Given the description of an element on the screen output the (x, y) to click on. 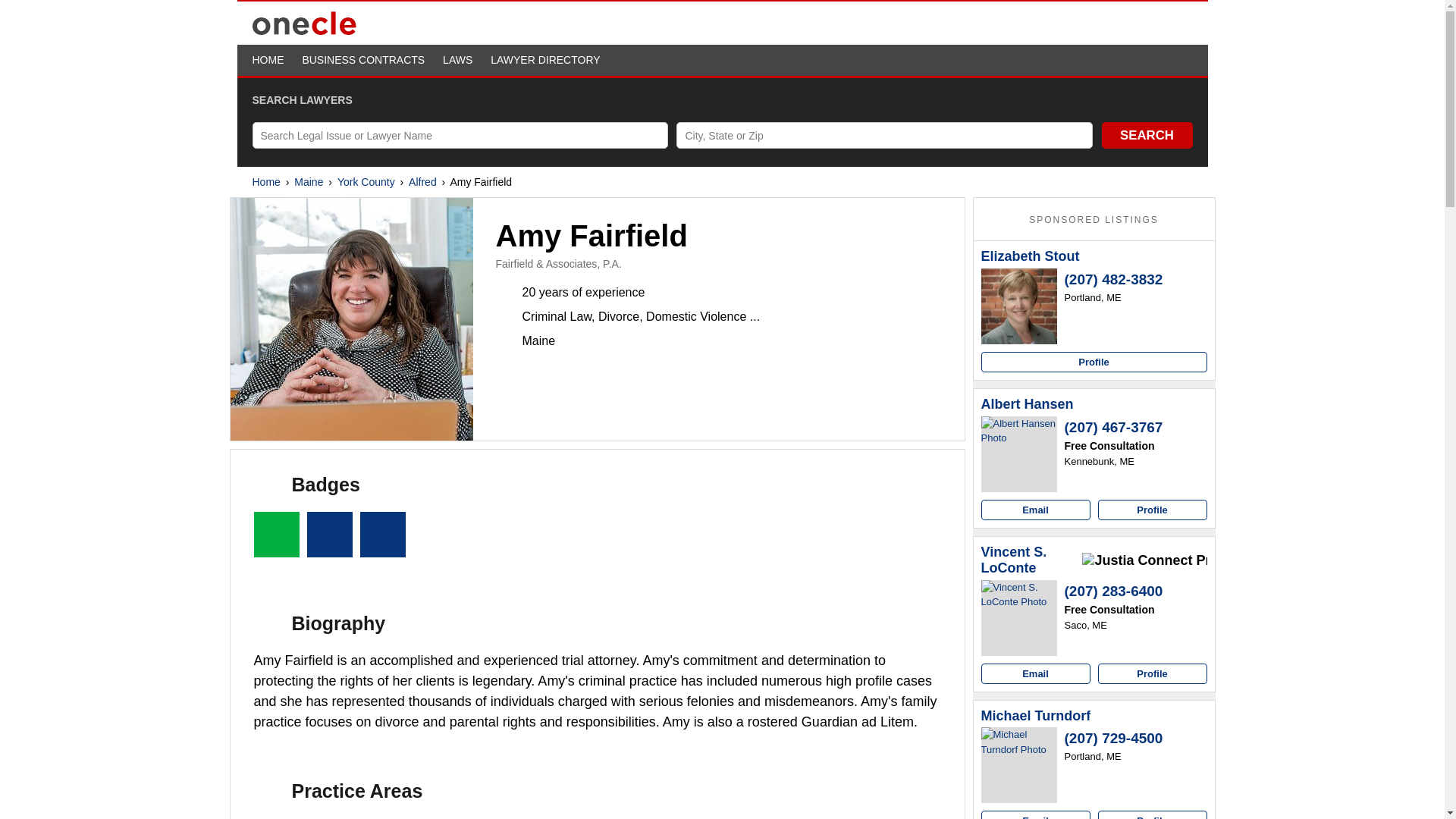
City, State or Zip (885, 135)
Maine (308, 181)
Amy Fairfield (351, 319)
BUSINESS CONTRACTS (363, 60)
HOME (267, 60)
Home (265, 181)
Albert Hansen (1019, 454)
Elizabeth Stout (1030, 256)
Email (1035, 509)
Profile (1094, 362)
